Given the description of an element on the screen output the (x, y) to click on. 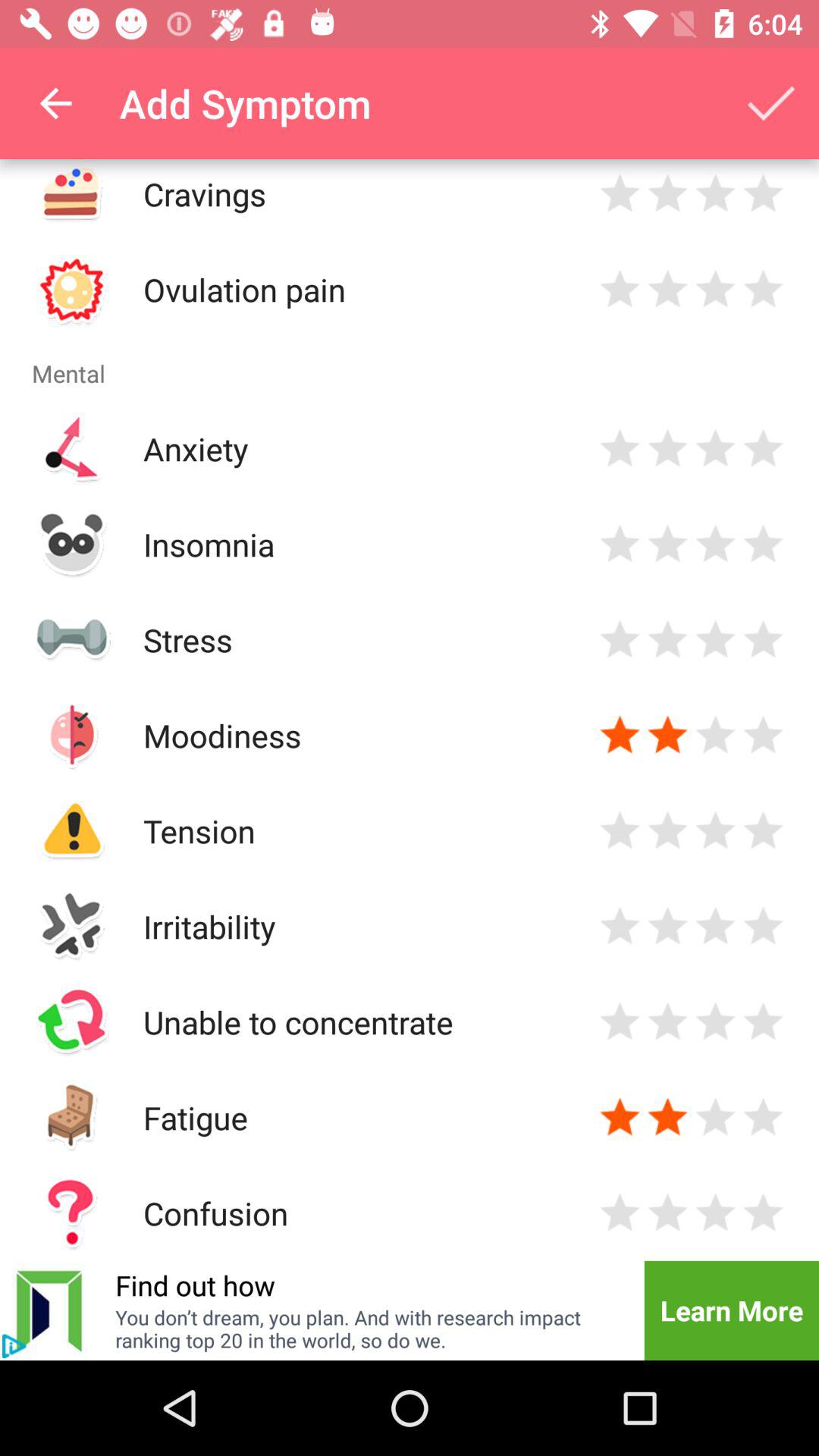
to rate with one star (619, 1117)
